Given the description of an element on the screen output the (x, y) to click on. 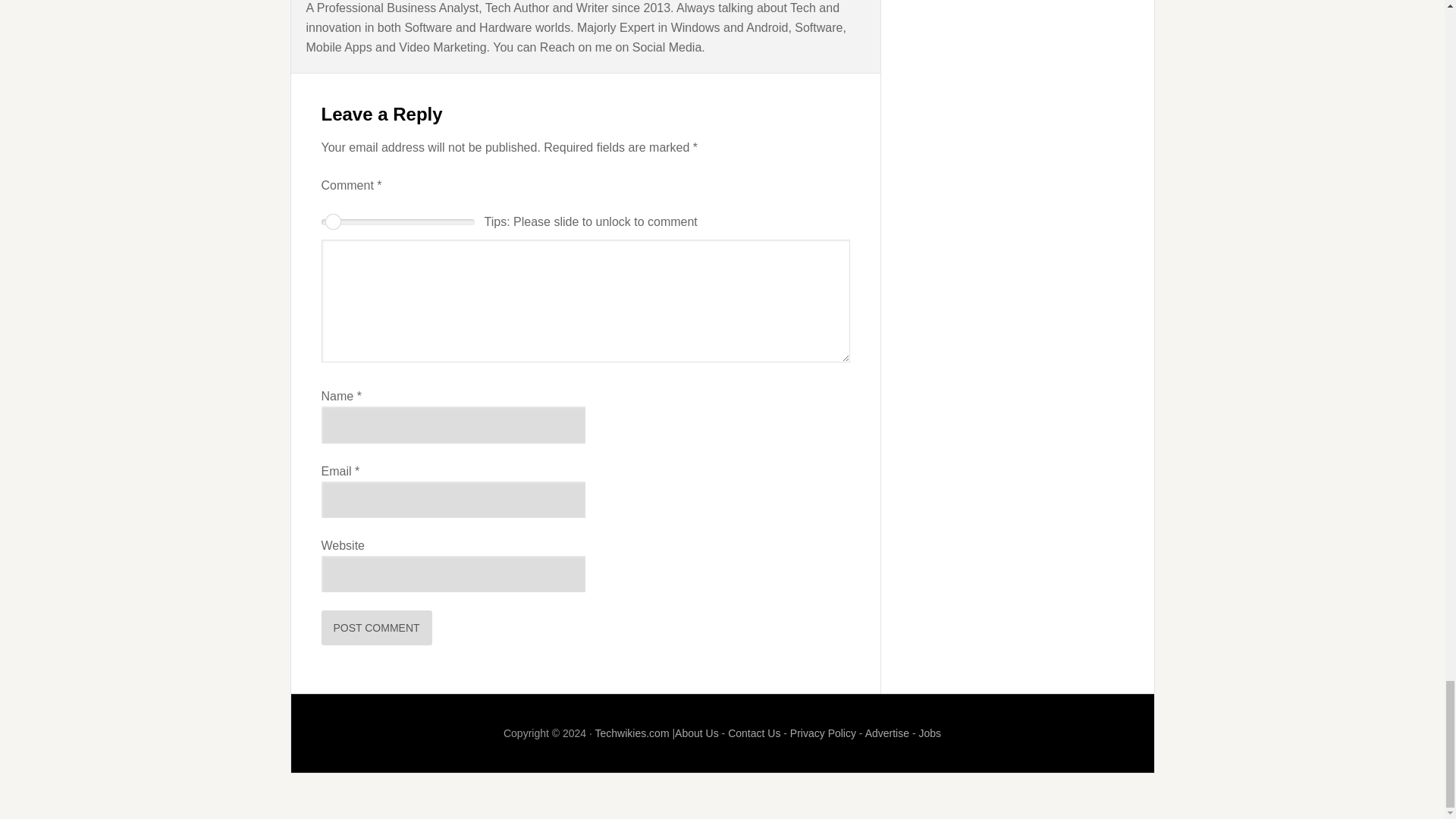
Post Comment (376, 627)
